Given the description of an element on the screen output the (x, y) to click on. 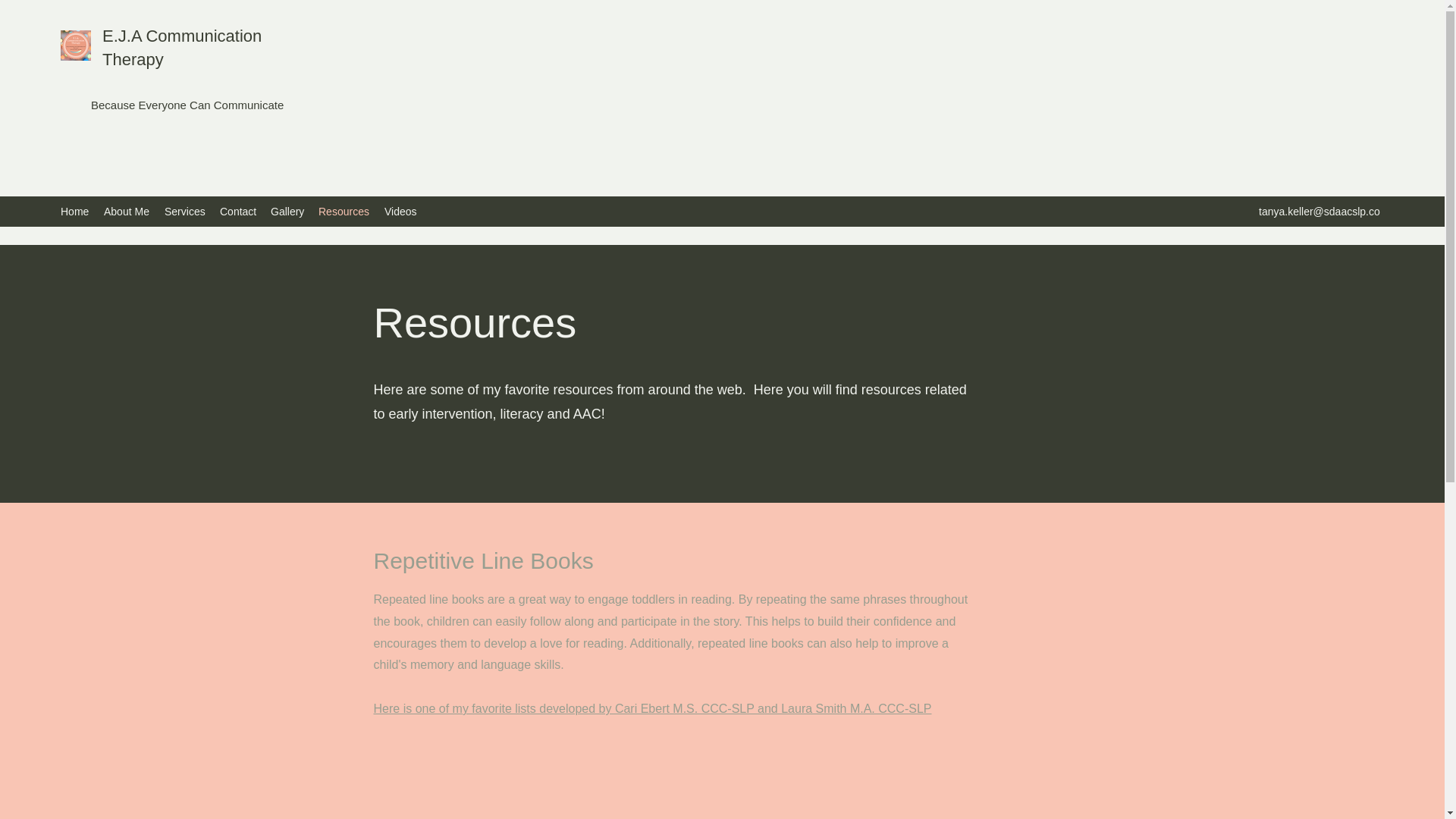
Home (74, 210)
About Me (126, 210)
Services (184, 210)
Resources (344, 210)
Gallery (287, 210)
Videos (401, 210)
Contact (237, 210)
